Given the description of an element on the screen output the (x, y) to click on. 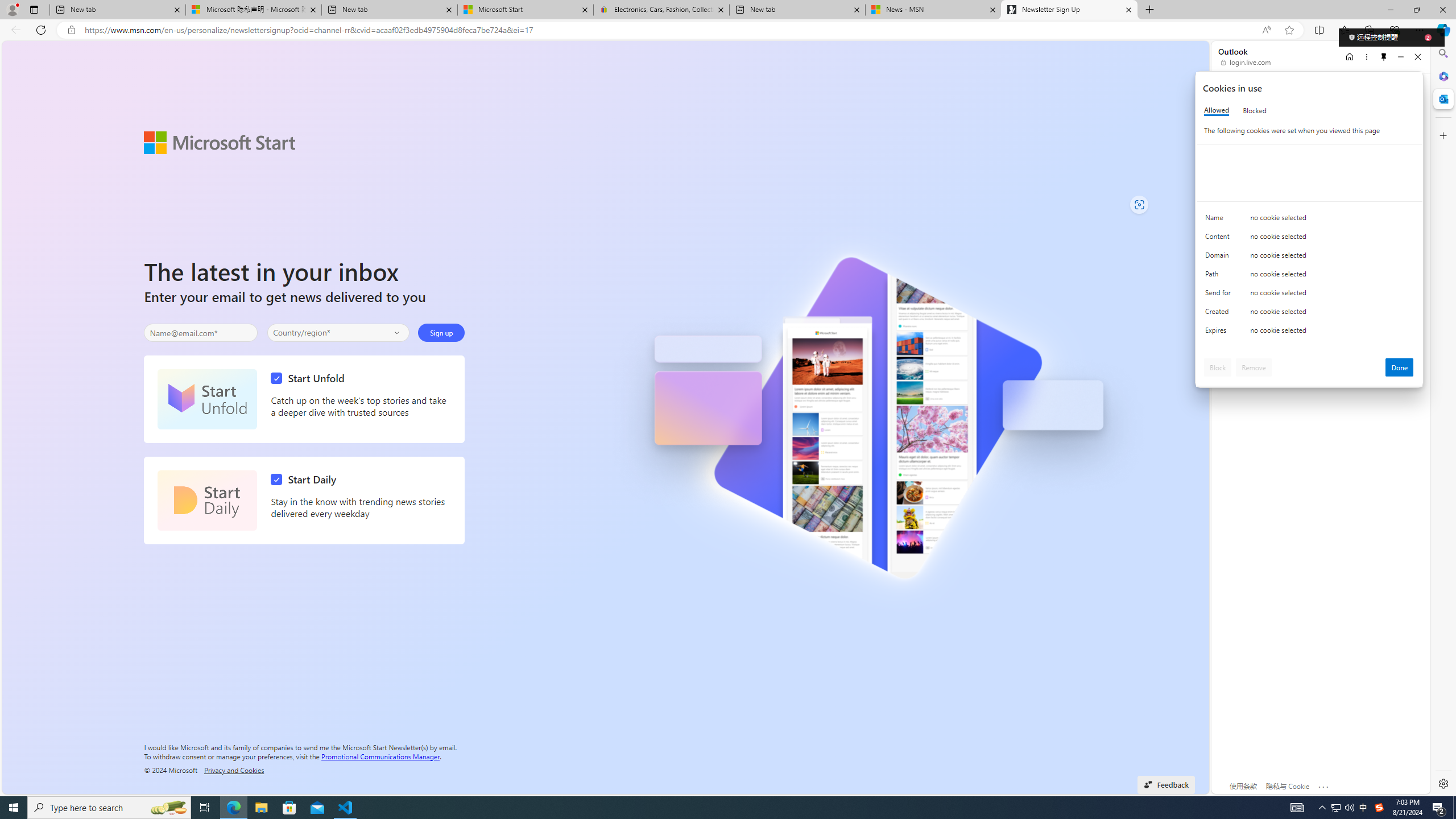
Promotional Communications Manager (380, 755)
Remove (1253, 367)
Class: c0153 c0157 (1309, 332)
